Given the description of an element on the screen output the (x, y) to click on. 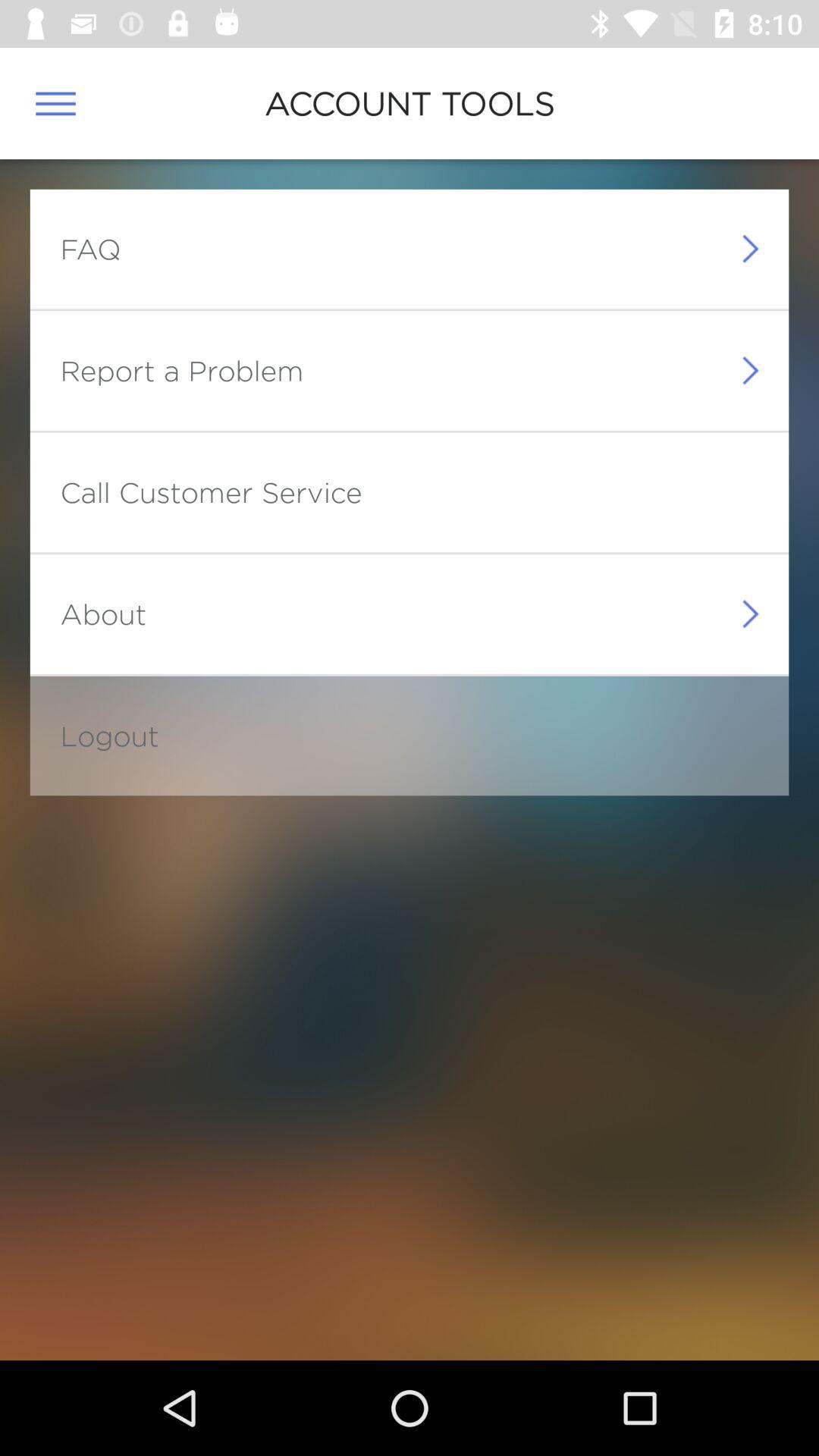
launch the item to the left of the account tools item (55, 103)
